Given the description of an element on the screen output the (x, y) to click on. 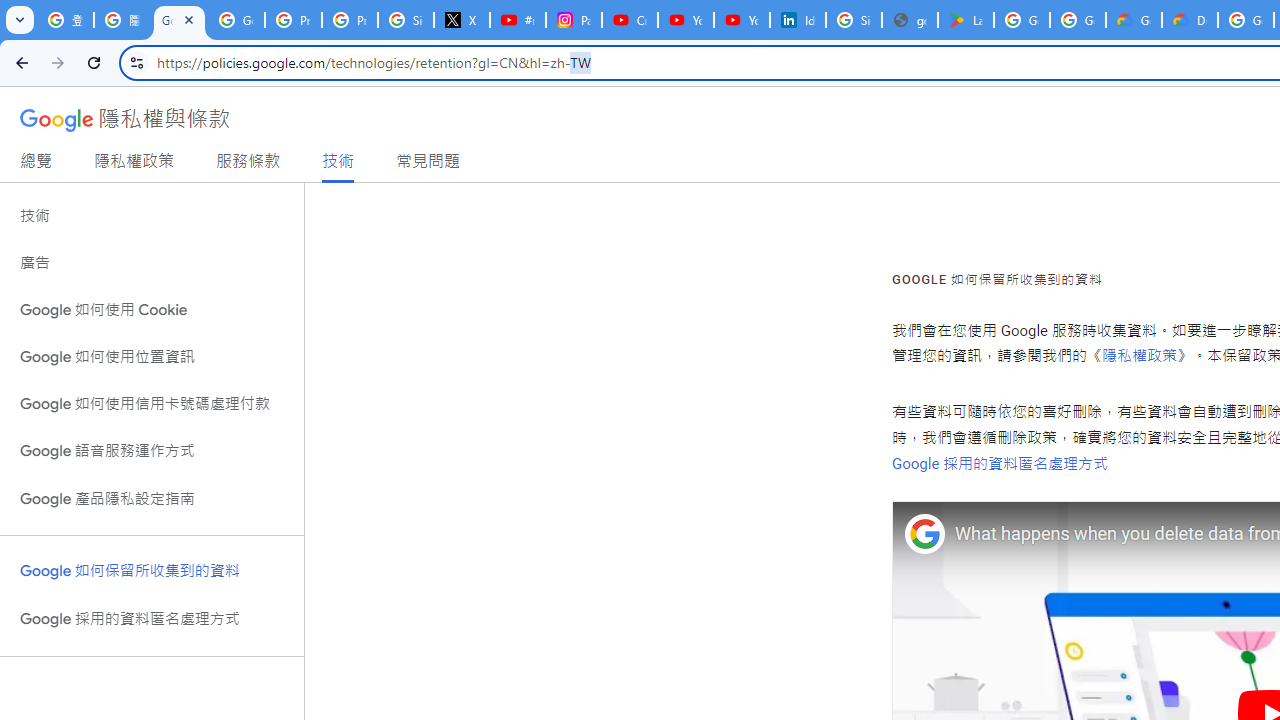
Last Shelter: Survival - Apps on Google Play (966, 20)
Sign in - Google Accounts (853, 20)
Reload (93, 62)
